Given the description of an element on the screen output the (x, y) to click on. 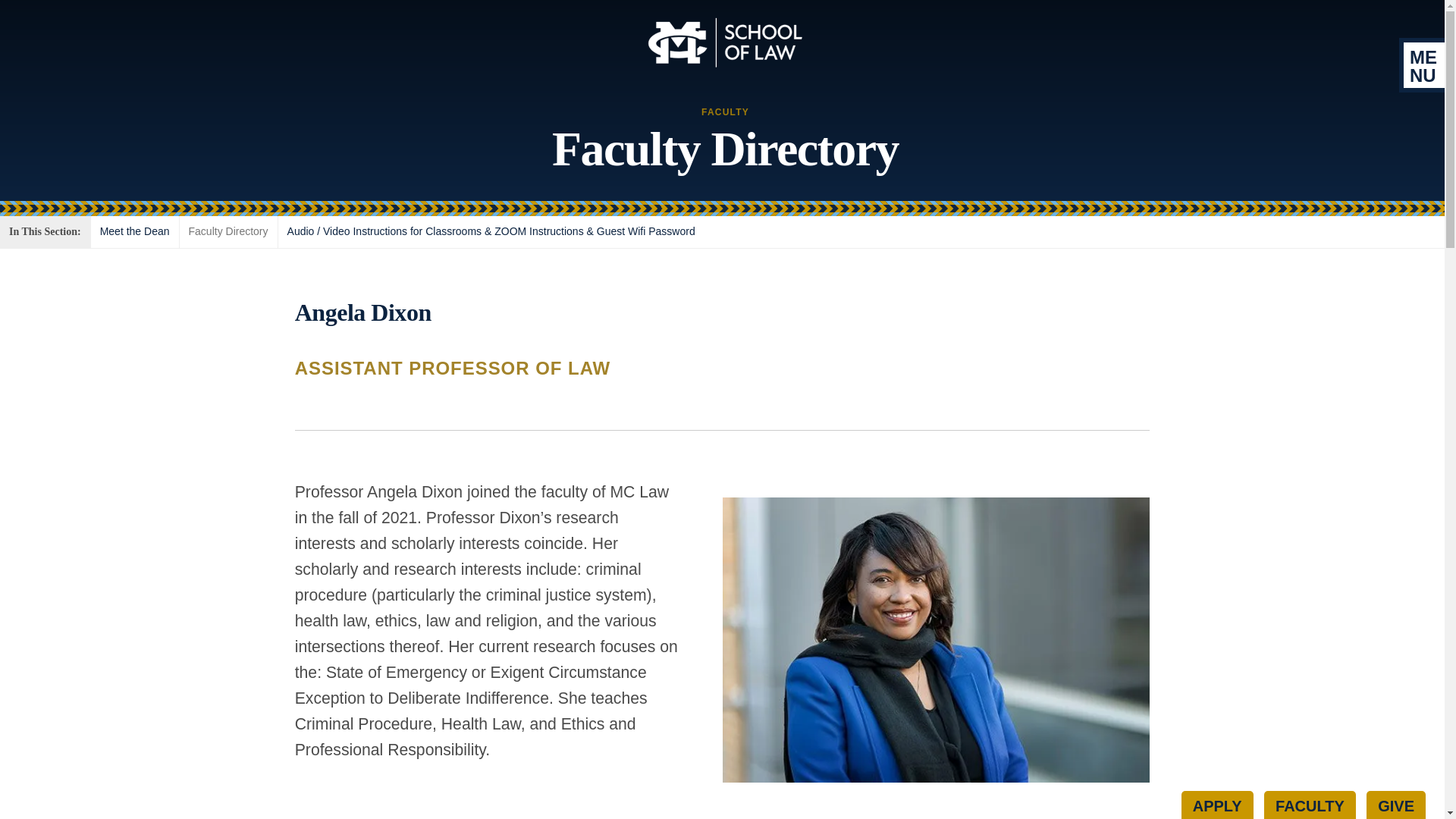
GIVE (1396, 805)
Meet the Dean (134, 232)
Faculty Directory (228, 232)
APPLY (1216, 805)
FACULTY (1309, 805)
FACULTY (725, 112)
